Given the description of an element on the screen output the (x, y) to click on. 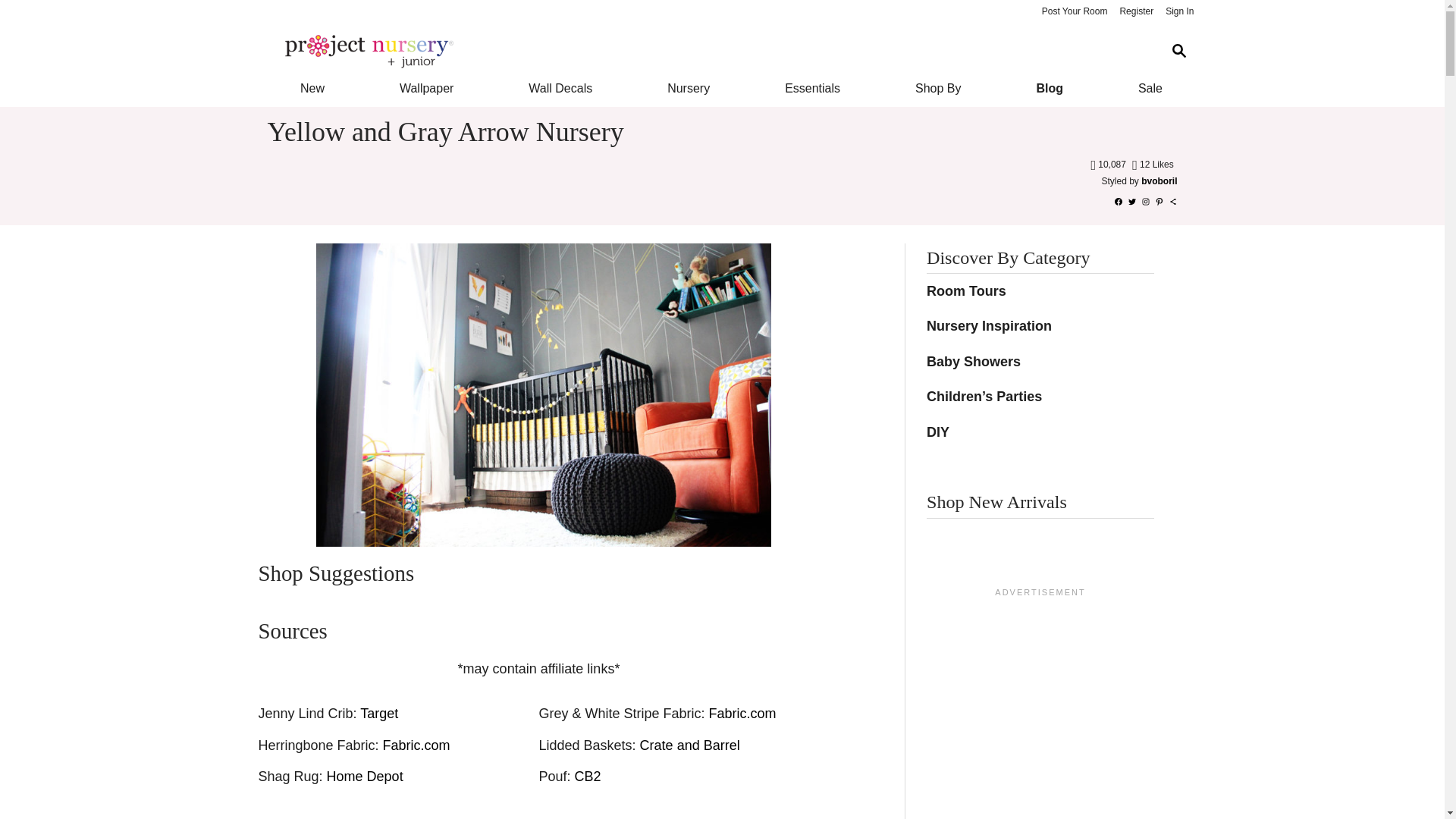
Wall Decals (561, 88)
Wallpaper (425, 88)
Register (1135, 11)
Post Your Room (1074, 11)
New (311, 88)
Search (1178, 50)
Views (1109, 163)
Sign In (1178, 11)
Nursery (689, 88)
Post Your Room (1074, 11)
Project Nursery (709, 51)
